Given the description of an element on the screen output the (x, y) to click on. 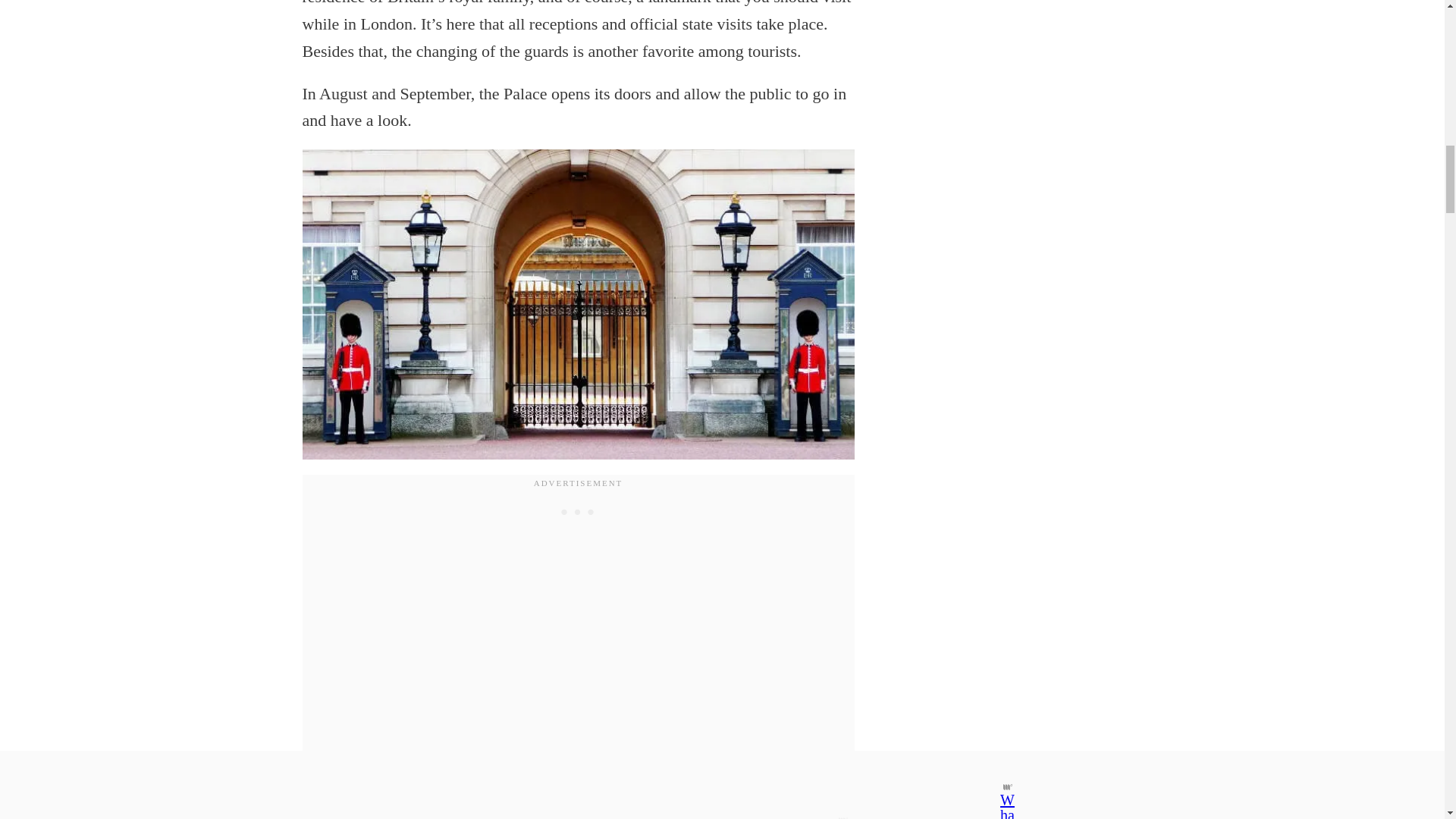
3rd party ad content (577, 511)
